Given the description of an element on the screen output the (x, y) to click on. 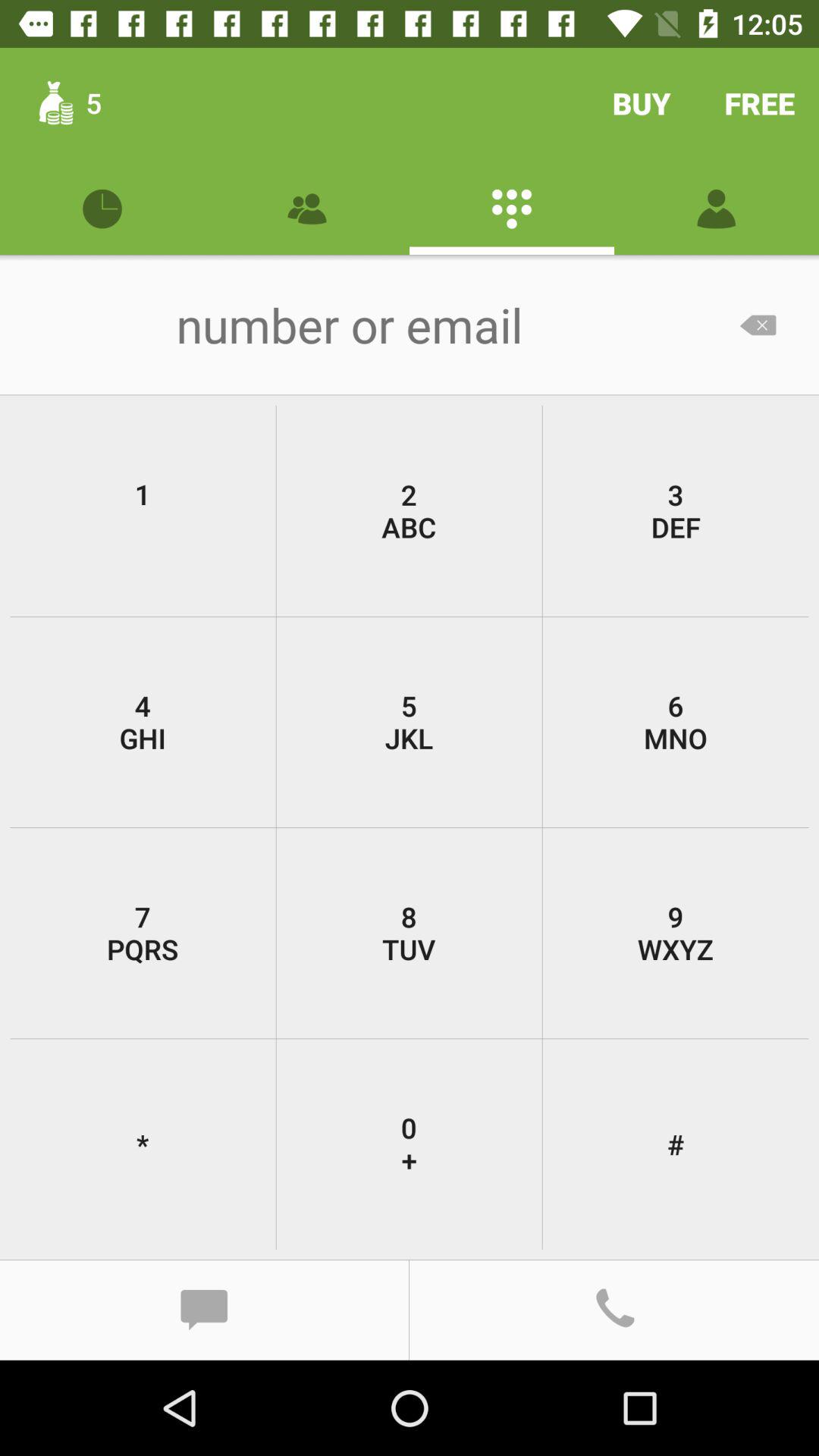
launch the 8
tuv item (409, 933)
